Given the description of an element on the screen output the (x, y) to click on. 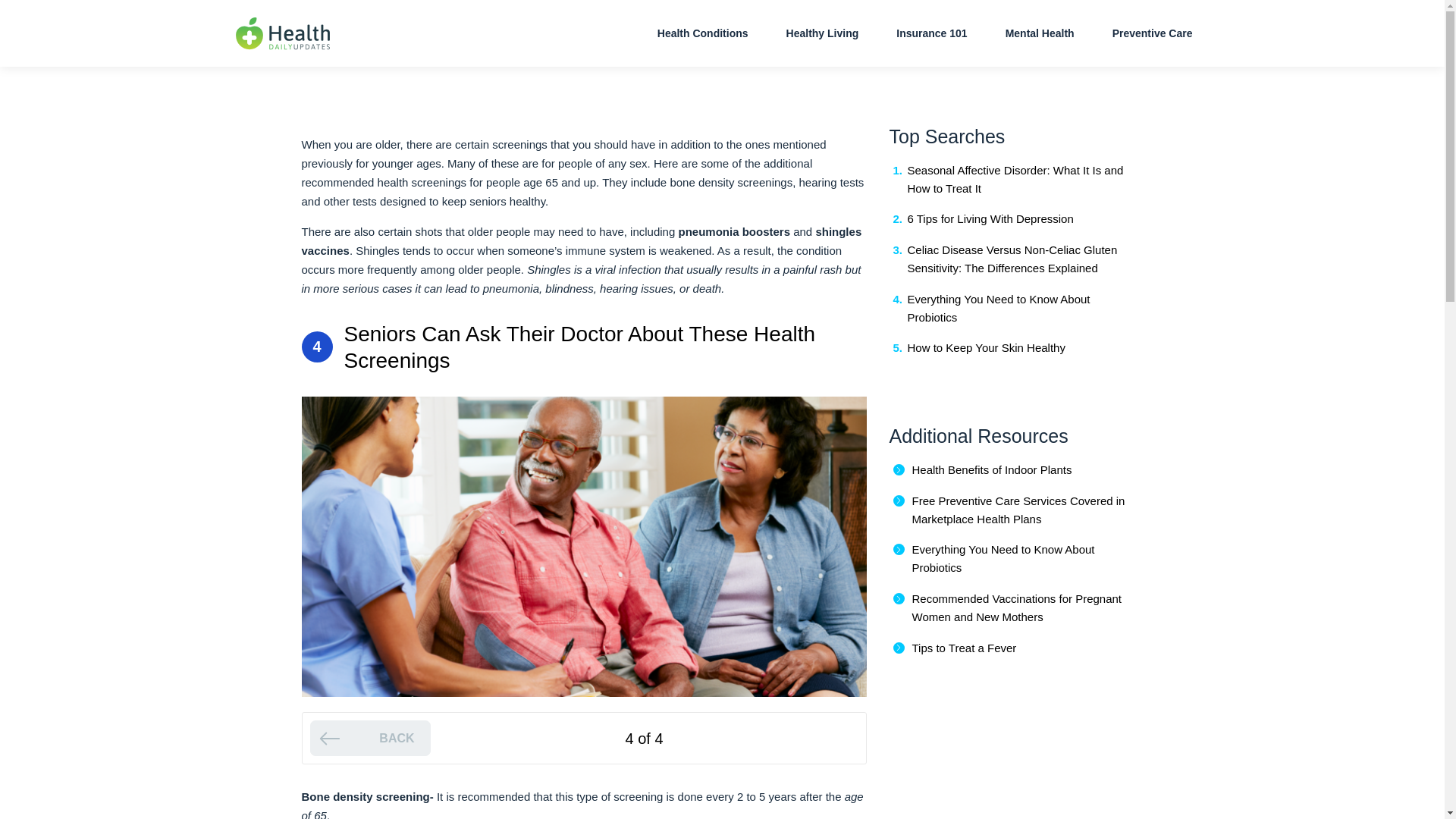
Preventive Care (1152, 33)
Tips to Treat a Fever (963, 647)
Mental Health (1039, 33)
Seasonal Affective Disorder: What It Is and How to Treat It (1014, 178)
BACK (368, 737)
Health Benefits of Indoor Plants (991, 469)
Everything You Need to Know About Probiotics (1002, 558)
Recommended Vaccinations for Pregnant Women and New Mothers (1016, 607)
Health Conditions (702, 33)
Healthy Living (823, 33)
How to Keep Your Skin Healthy (985, 347)
Insurance 101 (931, 33)
Everything You Need to Know About Probiotics (998, 307)
